Given the description of an element on the screen output the (x, y) to click on. 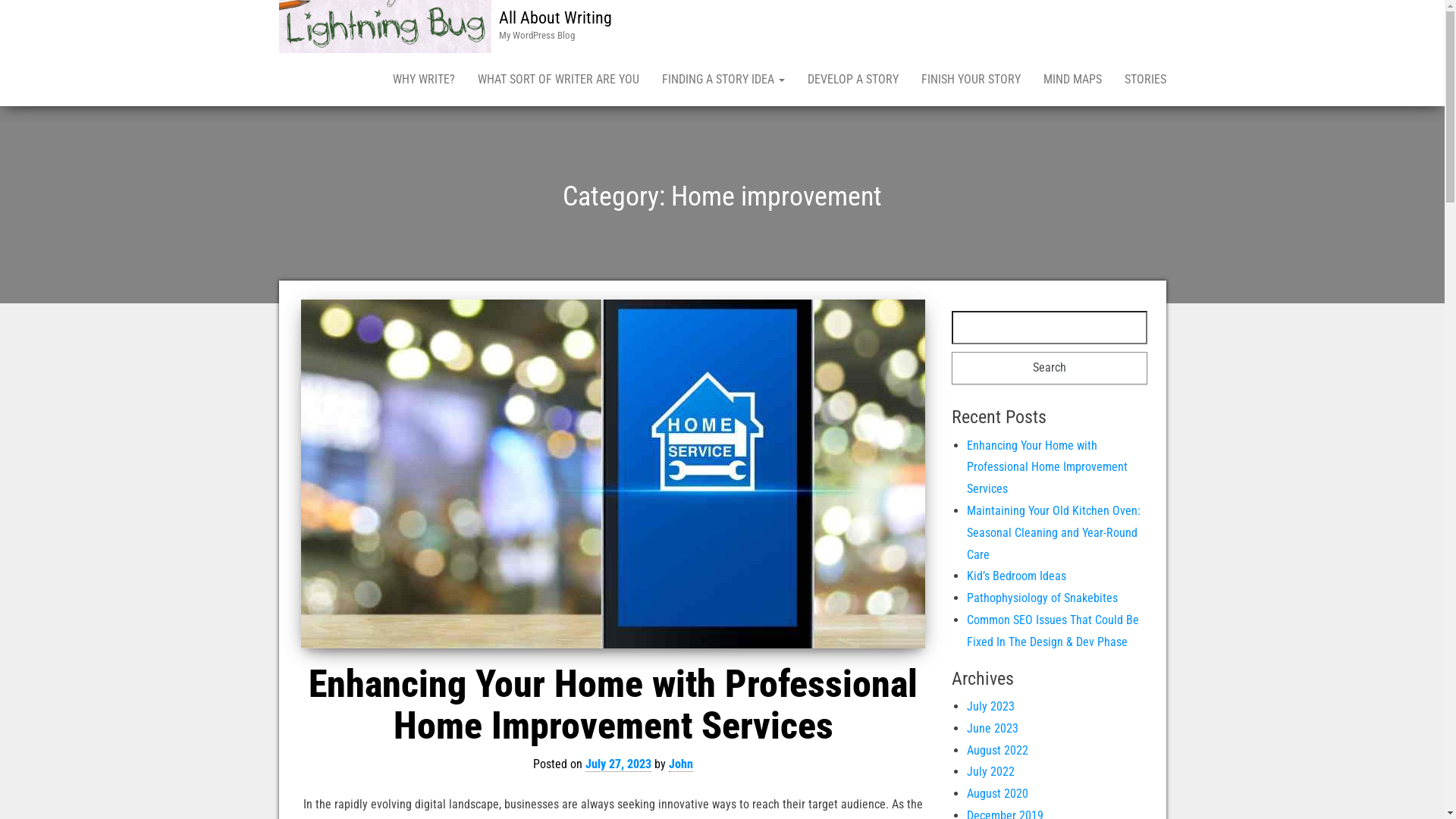
WHAT SORT OF WRITER ARE YOU Element type: text (557, 79)
July 27, 2023 Element type: text (618, 763)
August 2022 Element type: text (997, 750)
STORIES Element type: text (1145, 79)
MIND MAPS Element type: text (1071, 79)
FINDING A STORY IDEA Element type: text (723, 79)
July 2022 Element type: text (990, 771)
June 2023 Element type: text (992, 728)
WHY WRITE? Element type: text (422, 79)
Search Element type: text (1049, 367)
John Element type: text (680, 763)
All About Writing Element type: text (554, 17)
DEVELOP A STORY Element type: text (853, 79)
August 2020 Element type: text (997, 793)
Pathophysiology of Snakebites Element type: text (1041, 597)
FINISH YOUR STORY Element type: text (971, 79)
July 2023 Element type: text (990, 706)
